Given the description of an element on the screen output the (x, y) to click on. 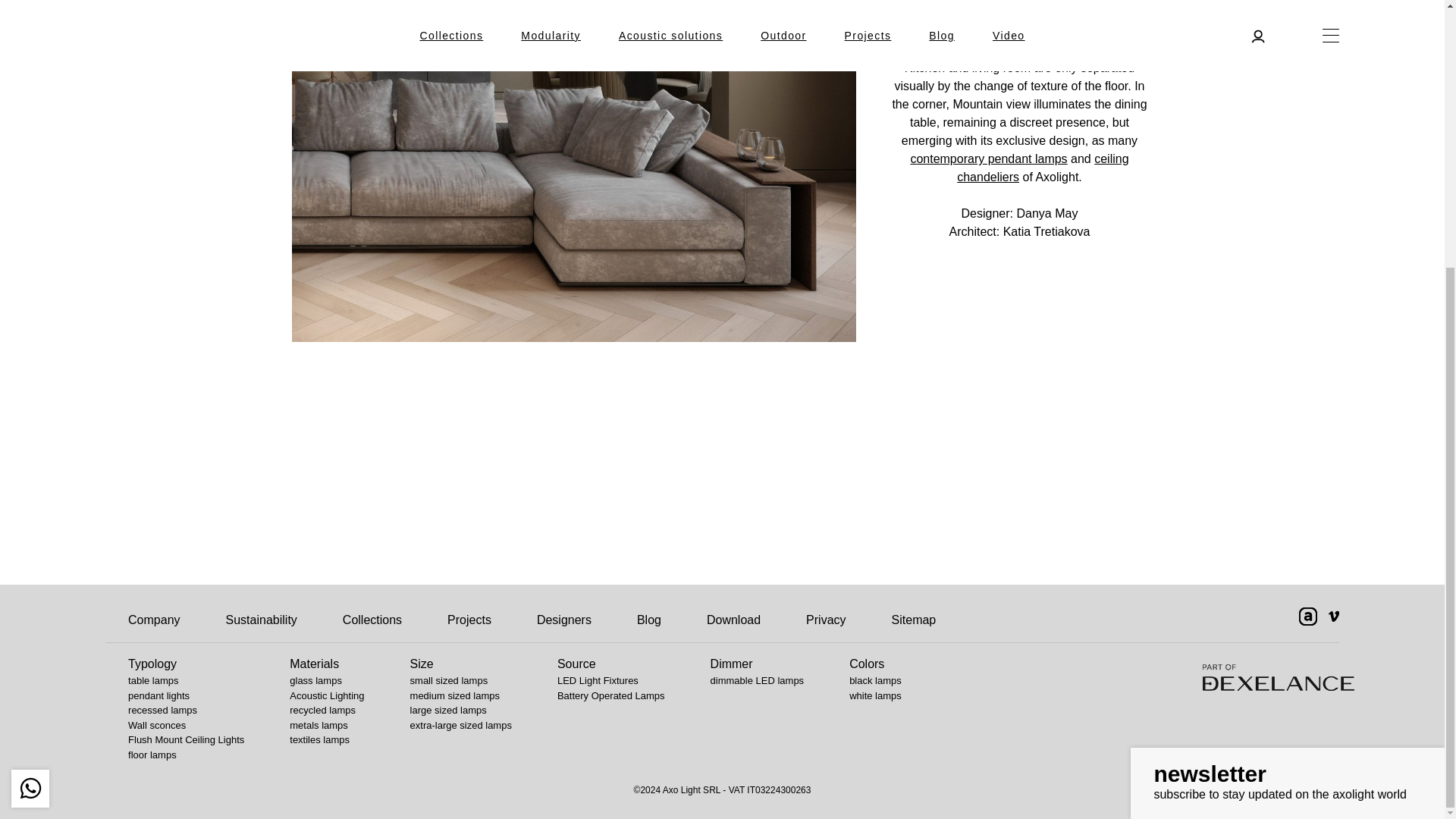
ceiling chandeliers (1042, 167)
contemporary pendant lamps (988, 158)
